Given the description of an element on the screen output the (x, y) to click on. 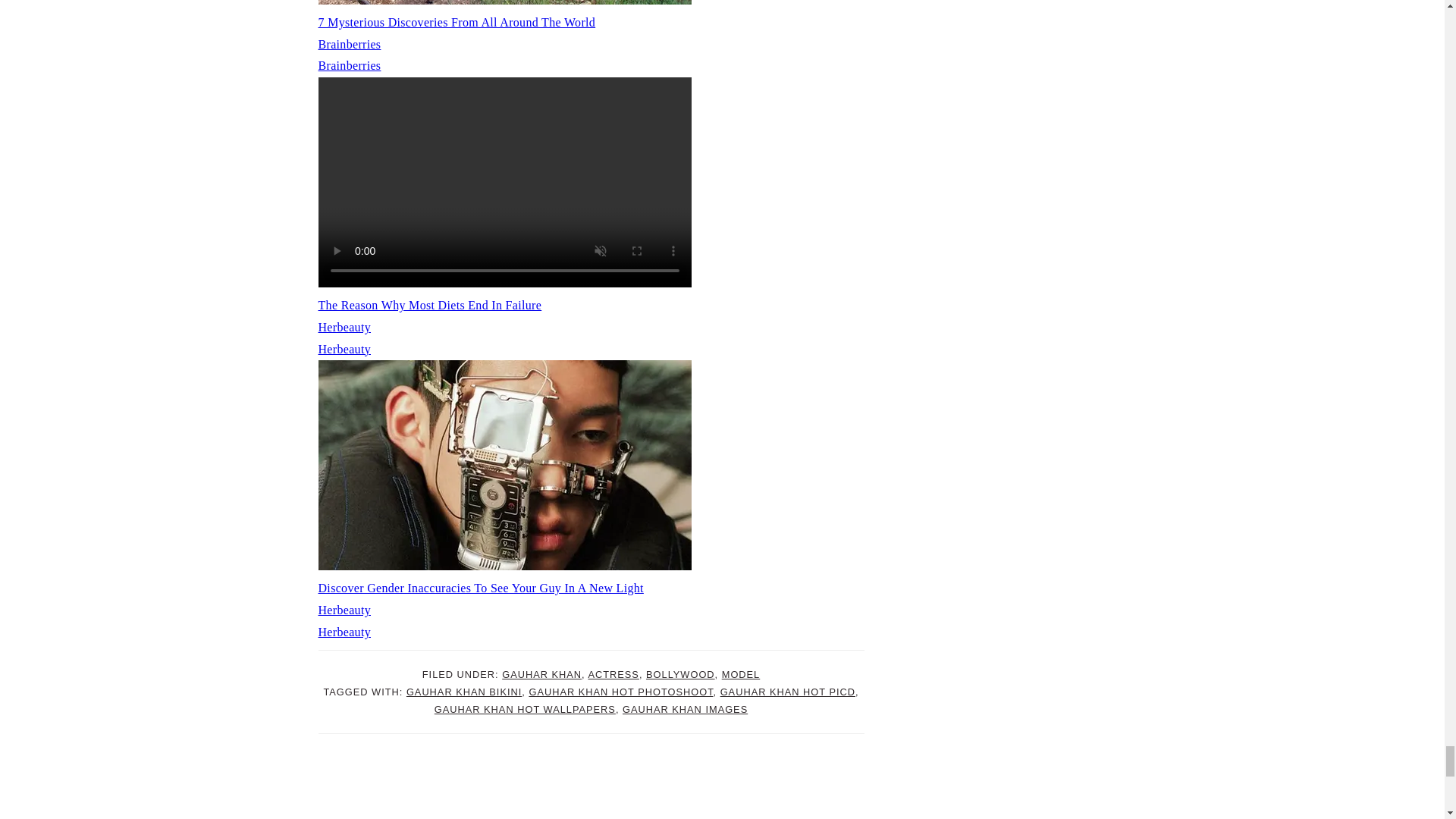
GAUHAR KHAN IMAGES (685, 708)
GAUHAR KHAN BIKINI (463, 691)
GAUHAR KHAN HOT PHOTOSHOOT (620, 691)
MODEL (741, 674)
ACTRESS (613, 674)
GAUHAR KHAN HOT PICD (788, 691)
GAUHAR KHAN (541, 674)
BOLLYWOOD (680, 674)
GAUHAR KHAN HOT WALLPAPERS (524, 708)
